Given the description of an element on the screen output the (x, y) to click on. 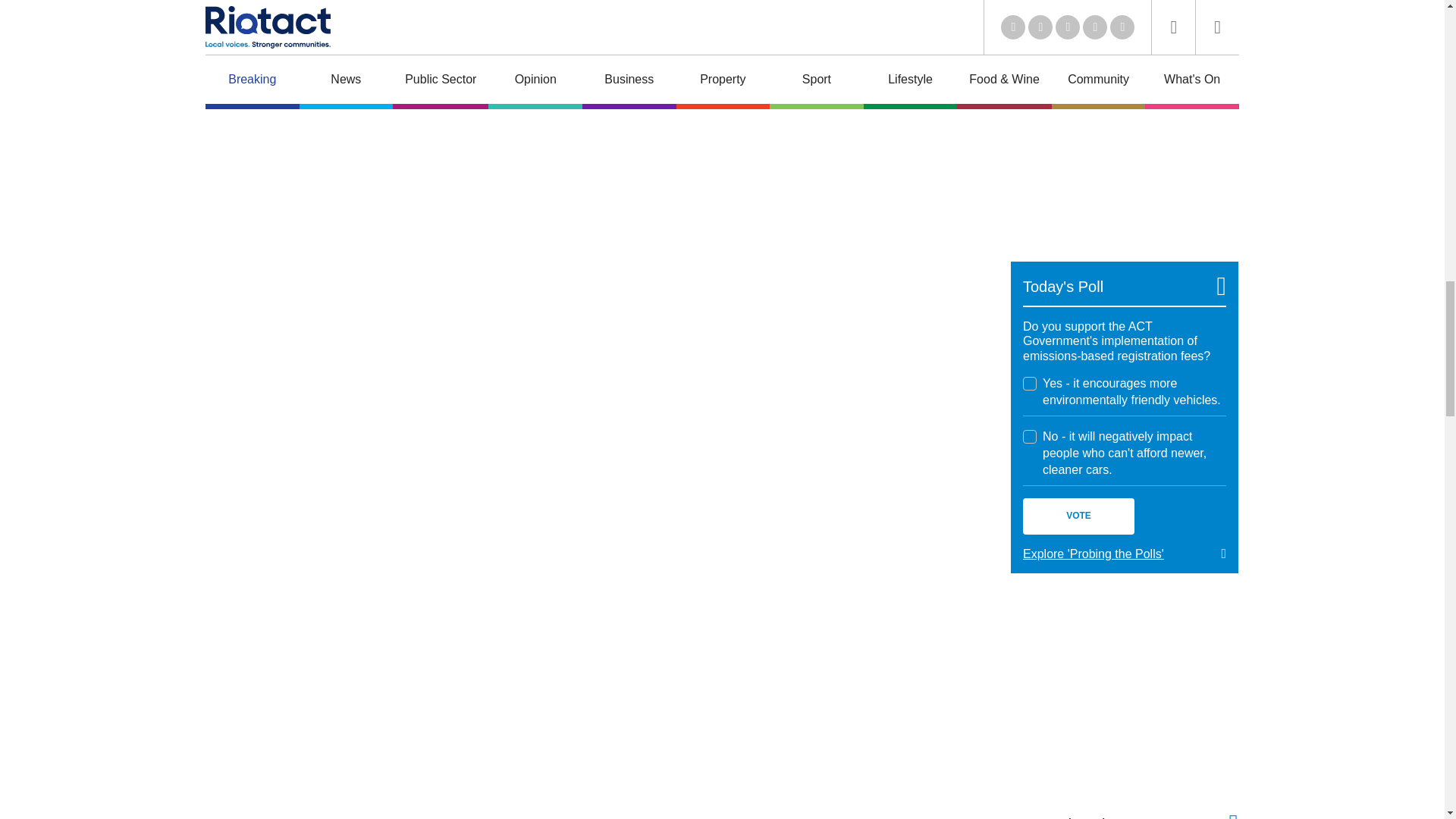
Zango (1209, 2)
Zango Sales (1124, 142)
   Vote    (1078, 515)
3rd party ad content (1124, 692)
2042 (1029, 436)
2041 (1029, 383)
